Given the description of an element on the screen output the (x, y) to click on. 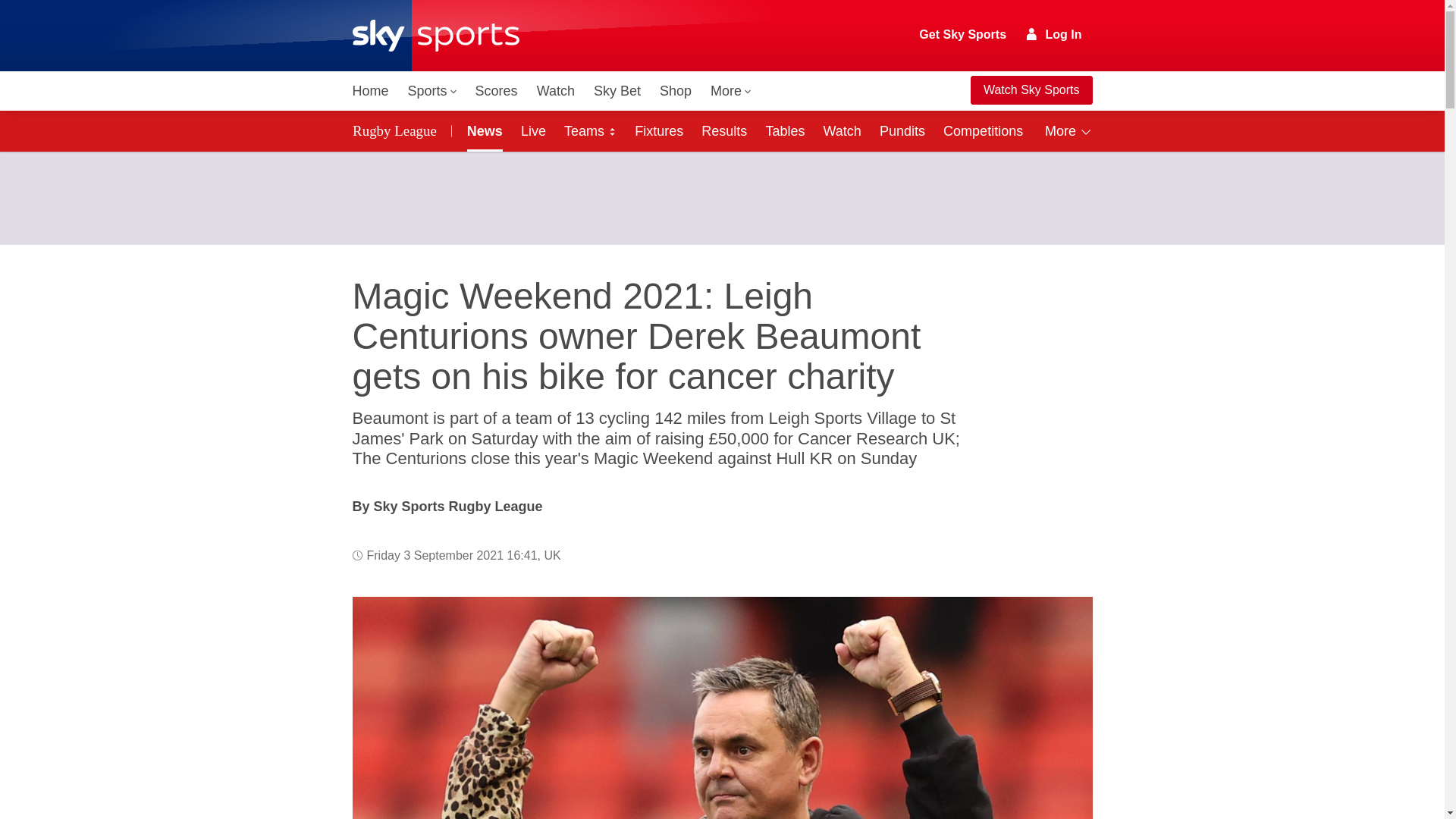
Home (369, 91)
Watch (555, 91)
More (730, 91)
Watch Sky Sports (1032, 90)
Get Sky Sports (962, 34)
Scores (496, 91)
Rugby League (396, 130)
Log In (1053, 33)
Shop (675, 91)
Sports (432, 91)
Sky Bet (616, 91)
News (481, 130)
